Given the description of an element on the screen output the (x, y) to click on. 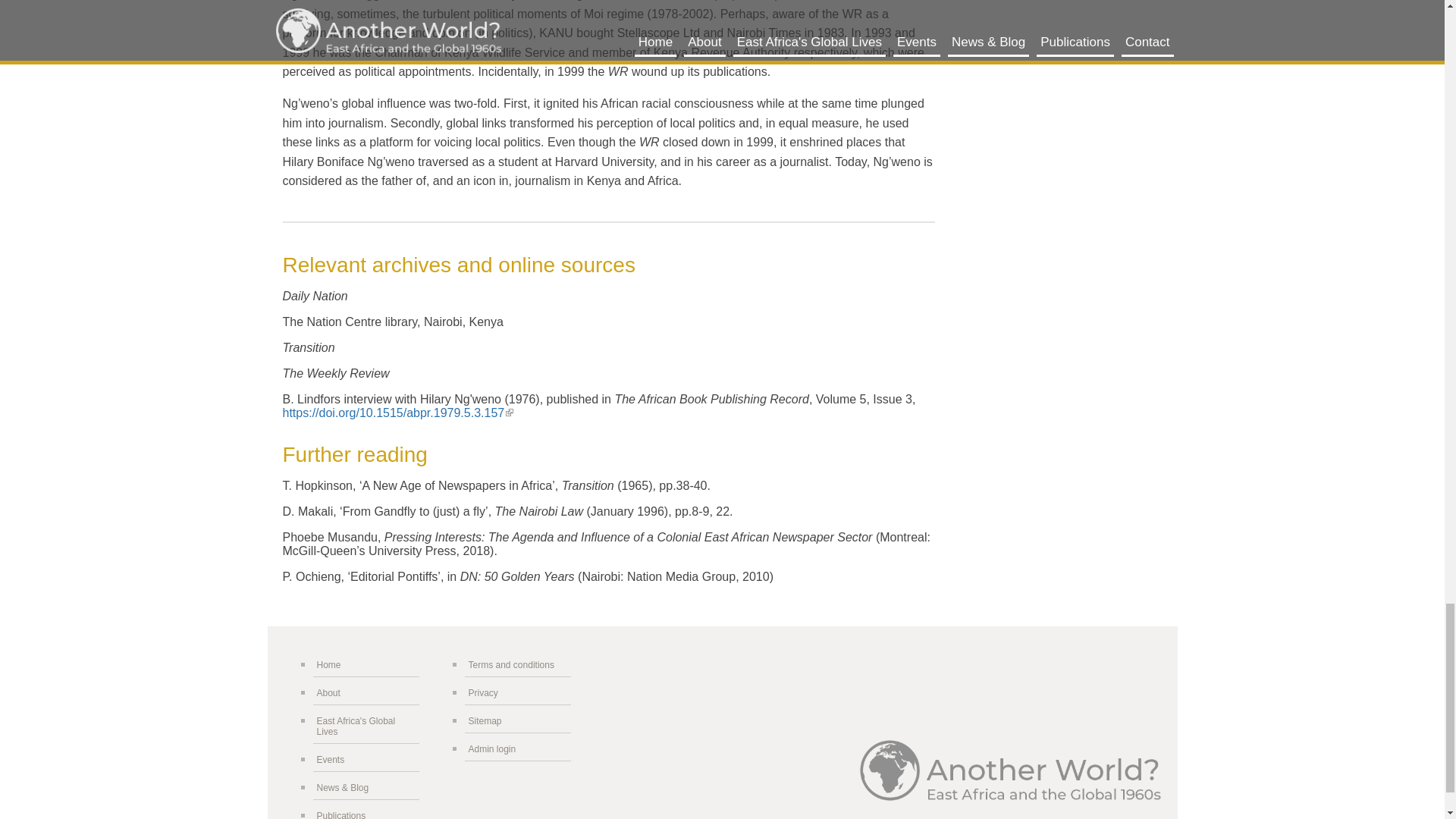
Events (366, 760)
Sitemap (517, 721)
Privacy (517, 693)
Terms and conditions (517, 665)
About (366, 693)
Terms and conditions (517, 665)
Events (366, 760)
Admin login (517, 749)
Privacy (517, 693)
Home (366, 665)
East Africa's Global Lives (366, 726)
About the project (366, 693)
East Africa's Global Lives (366, 726)
Sitemap (517, 721)
